Given the description of an element on the screen output the (x, y) to click on. 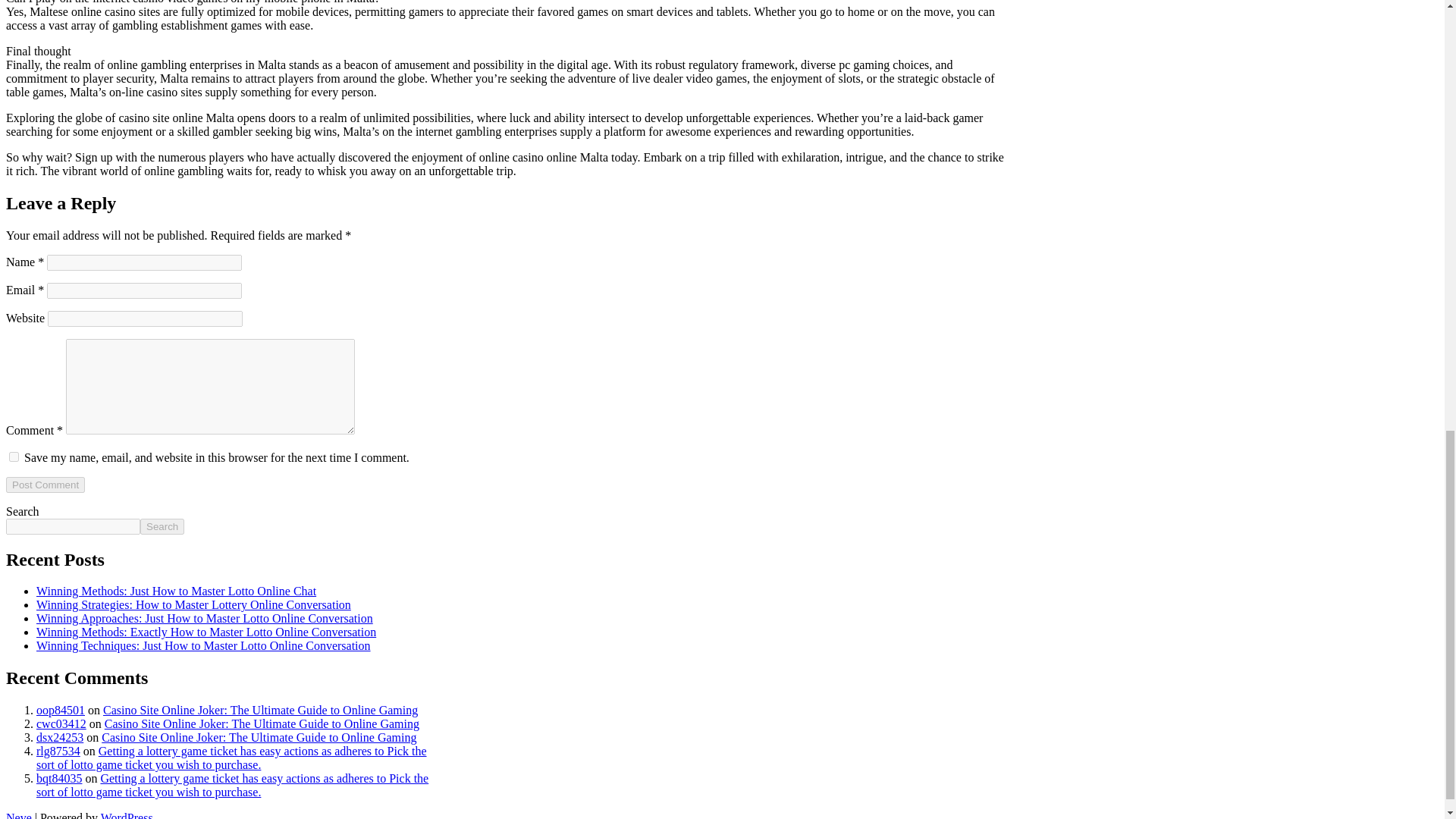
dsx24253 (59, 737)
Post Comment (44, 484)
Post Comment (44, 484)
